Given the description of an element on the screen output the (x, y) to click on. 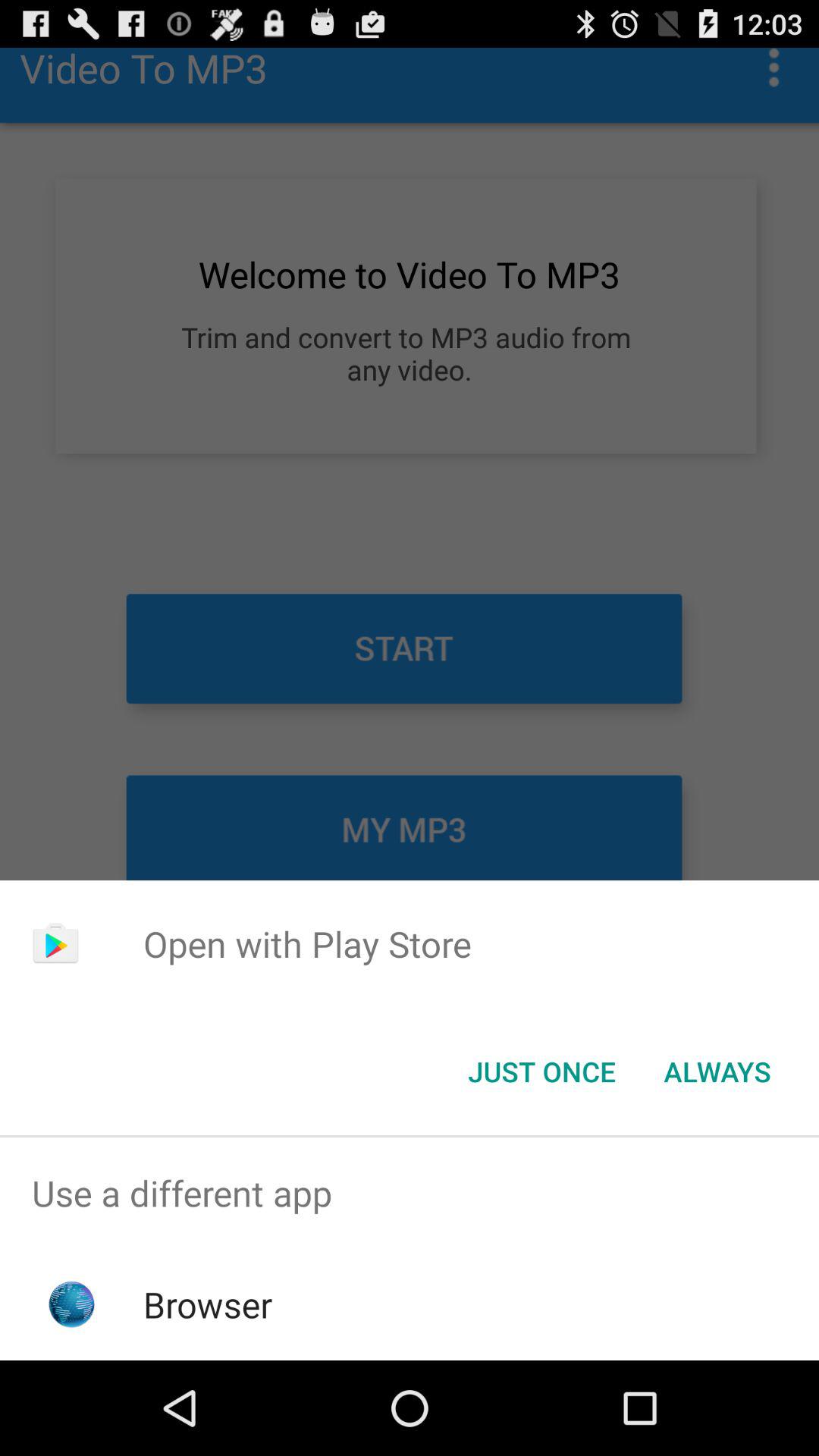
press the icon next to the just once (717, 1071)
